Given the description of an element on the screen output the (x, y) to click on. 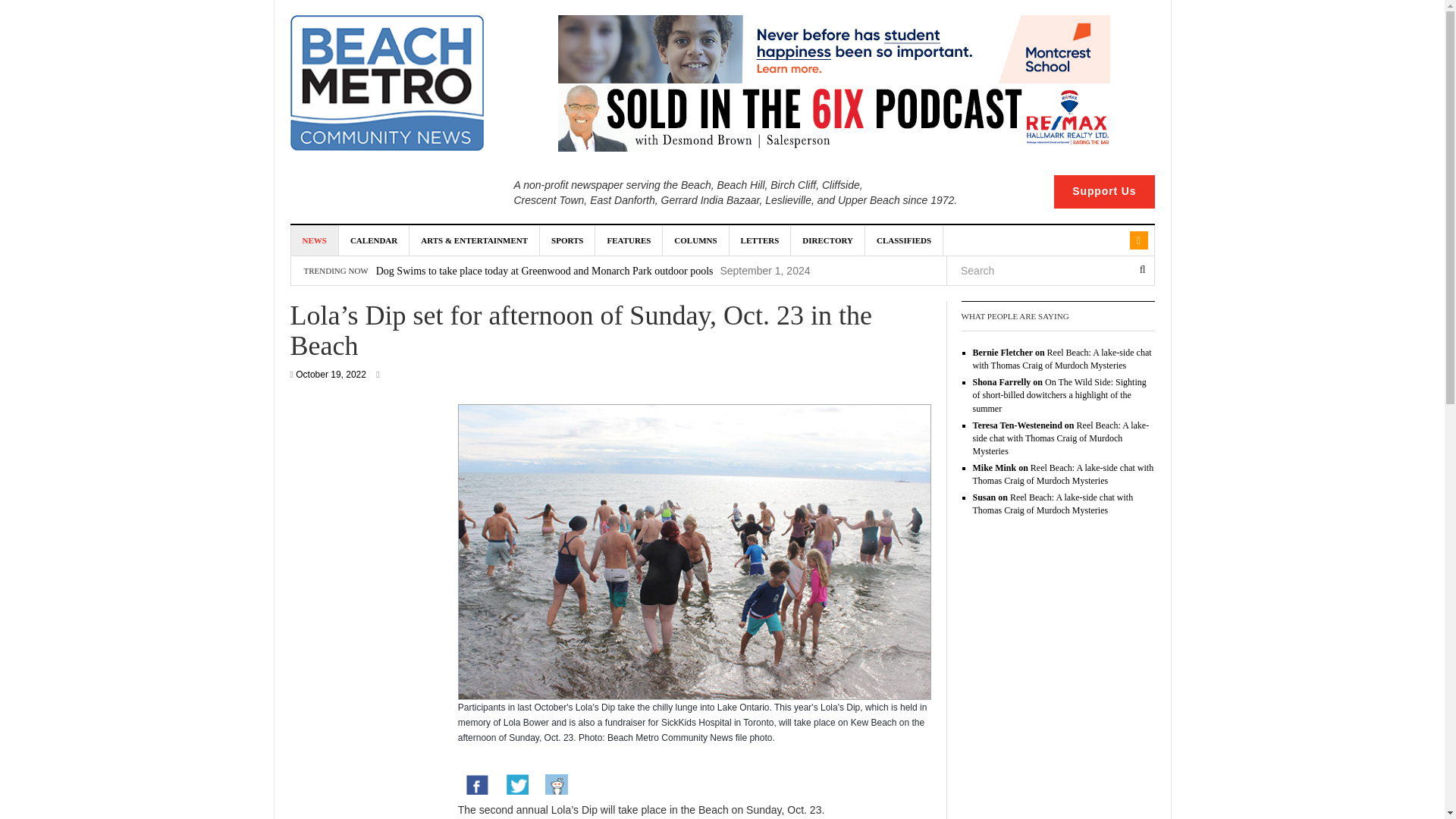
SOLD IN THE 6IX PODCAST (833, 117)
FEATURES (628, 240)
NEWS (315, 240)
Share On Twitter (516, 785)
Moncrest School (833, 49)
CALENDAR (374, 240)
SPORTS (567, 240)
Share On Facebook (477, 785)
COLUMNS (695, 240)
Support Us (1104, 191)
